Given the description of an element on the screen output the (x, y) to click on. 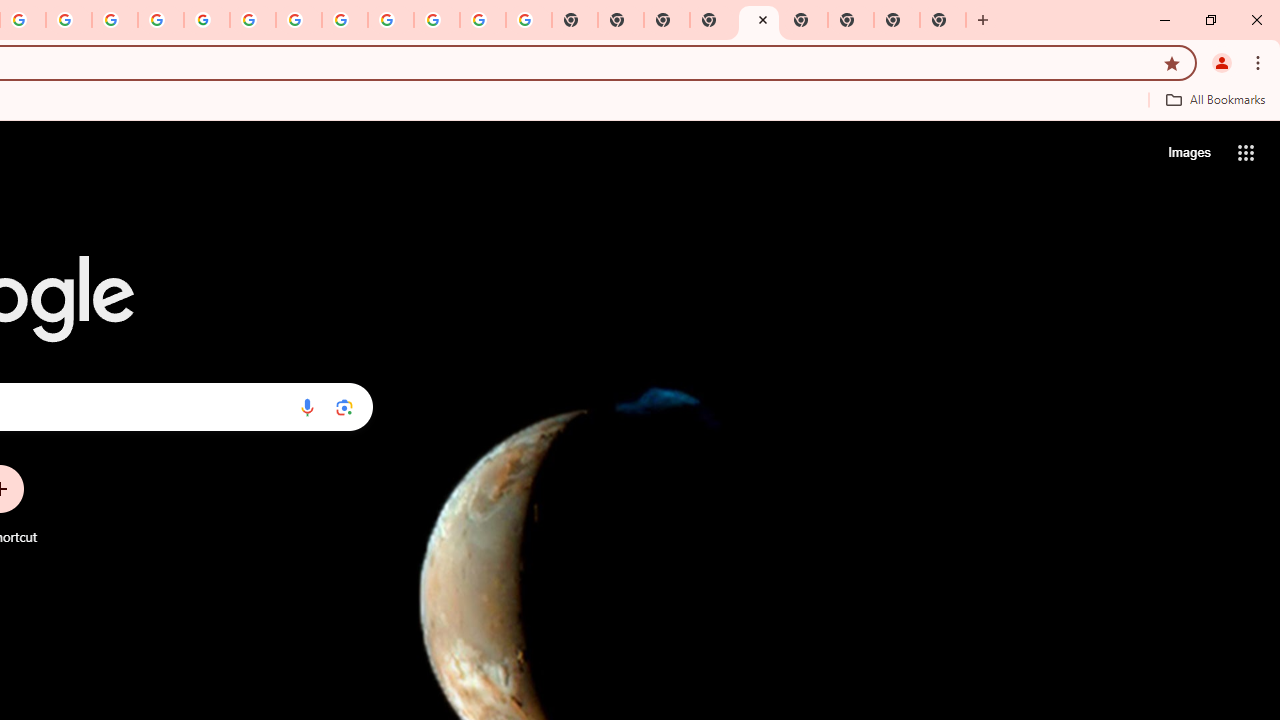
You (1221, 62)
New Tab (982, 20)
Close (762, 19)
Privacy Help Center - Policies Help (115, 20)
Search for Images  (1188, 152)
New Tab (943, 20)
Privacy Help Center - Policies Help (69, 20)
Search by voice (307, 407)
